Given the description of an element on the screen output the (x, y) to click on. 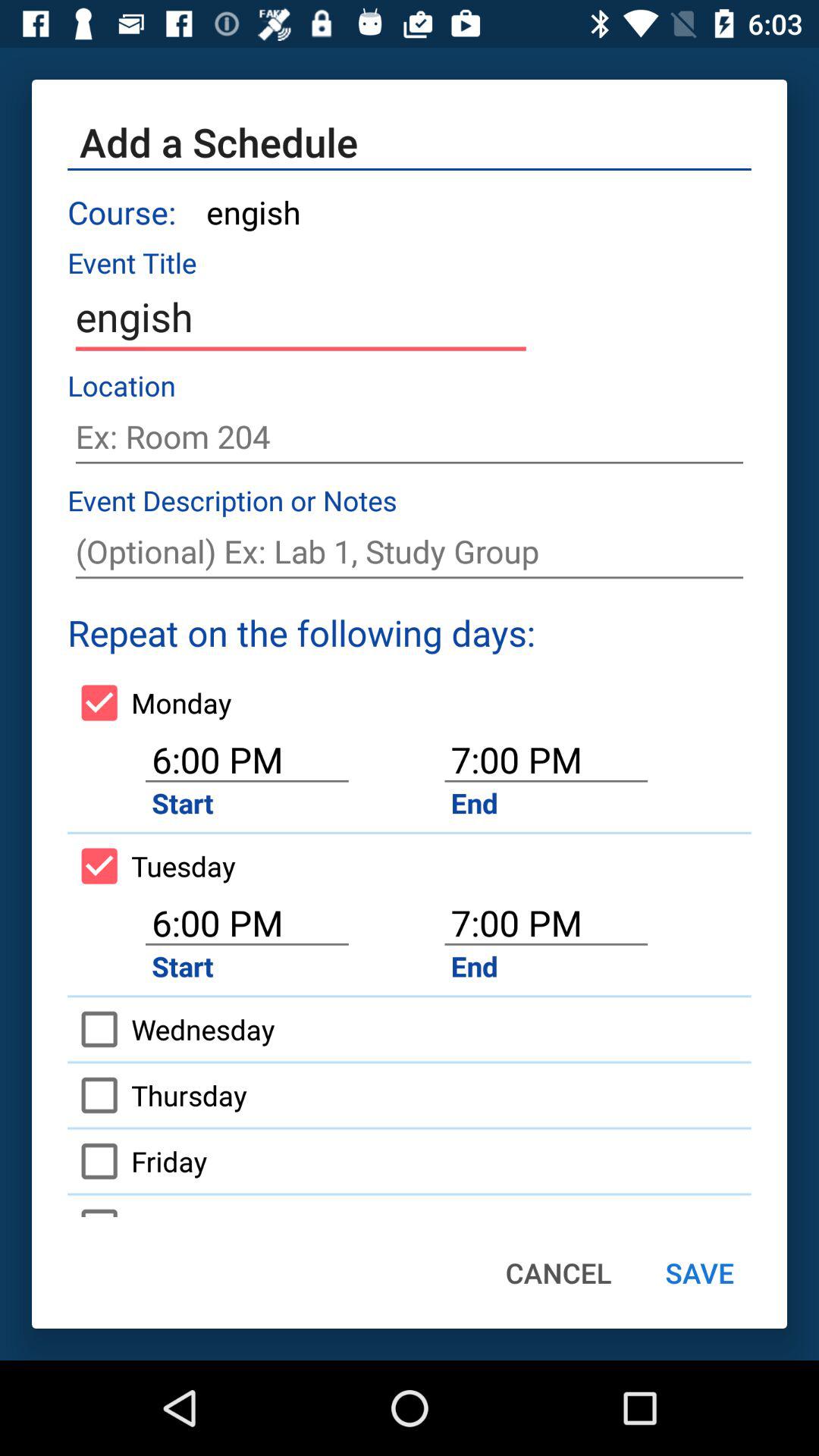
select the monday icon (149, 702)
